Given the description of an element on the screen output the (x, y) to click on. 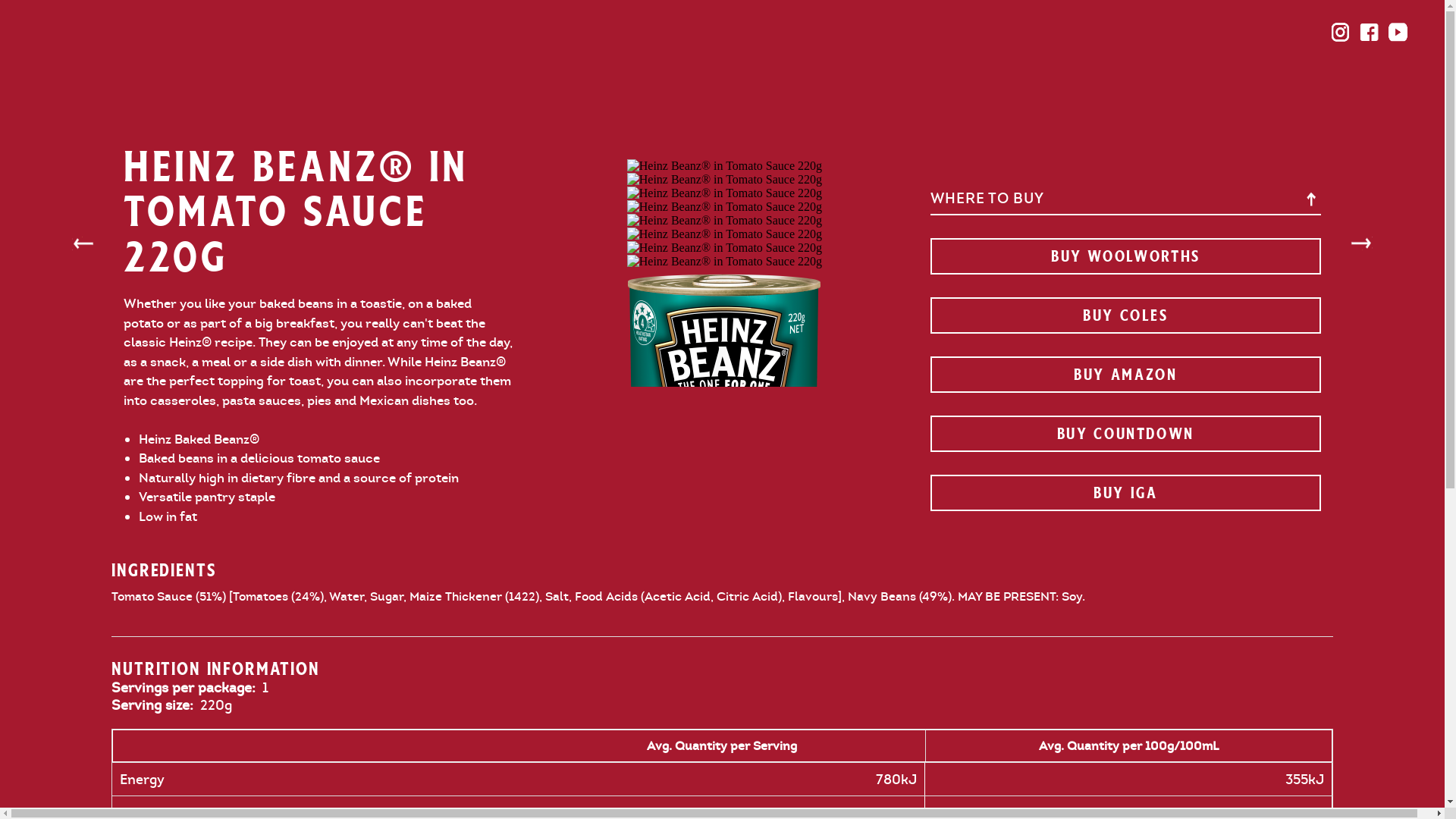
youtube Element type: hover (1397, 31)
instagram Element type: hover (1339, 31)
Buy Woolworths Element type: text (1125, 256)
Buy countdown Element type: text (1125, 433)
Buy Coles Element type: text (1125, 315)
Buy IGA Element type: text (1125, 492)
Buy Amazon Element type: text (1125, 374)
facebook Element type: hover (1368, 31)
